Given the description of an element on the screen output the (x, y) to click on. 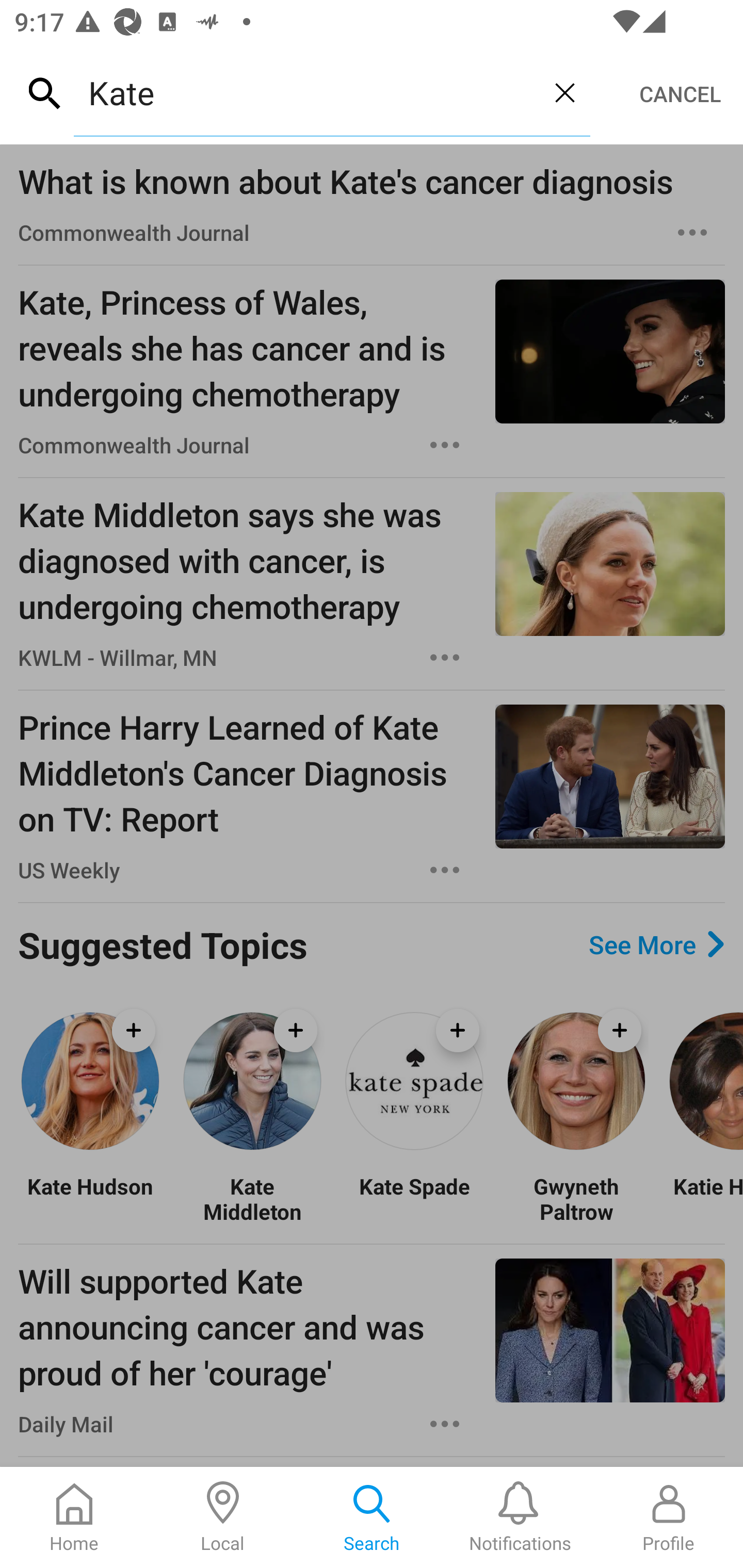
Clear query (564, 92)
CANCEL (680, 93)
Kate (306, 92)
Options (692, 232)
Options (444, 445)
Options (444, 657)
Options (444, 870)
See More (656, 943)
Kate Hudson (89, 1198)
Kate Middleton (251, 1198)
Kate Spade (413, 1198)
Gwyneth Paltrow (575, 1198)
Options (444, 1423)
Home (74, 1517)
Local (222, 1517)
Notifications (519, 1517)
Profile (668, 1517)
